Given the description of an element on the screen output the (x, y) to click on. 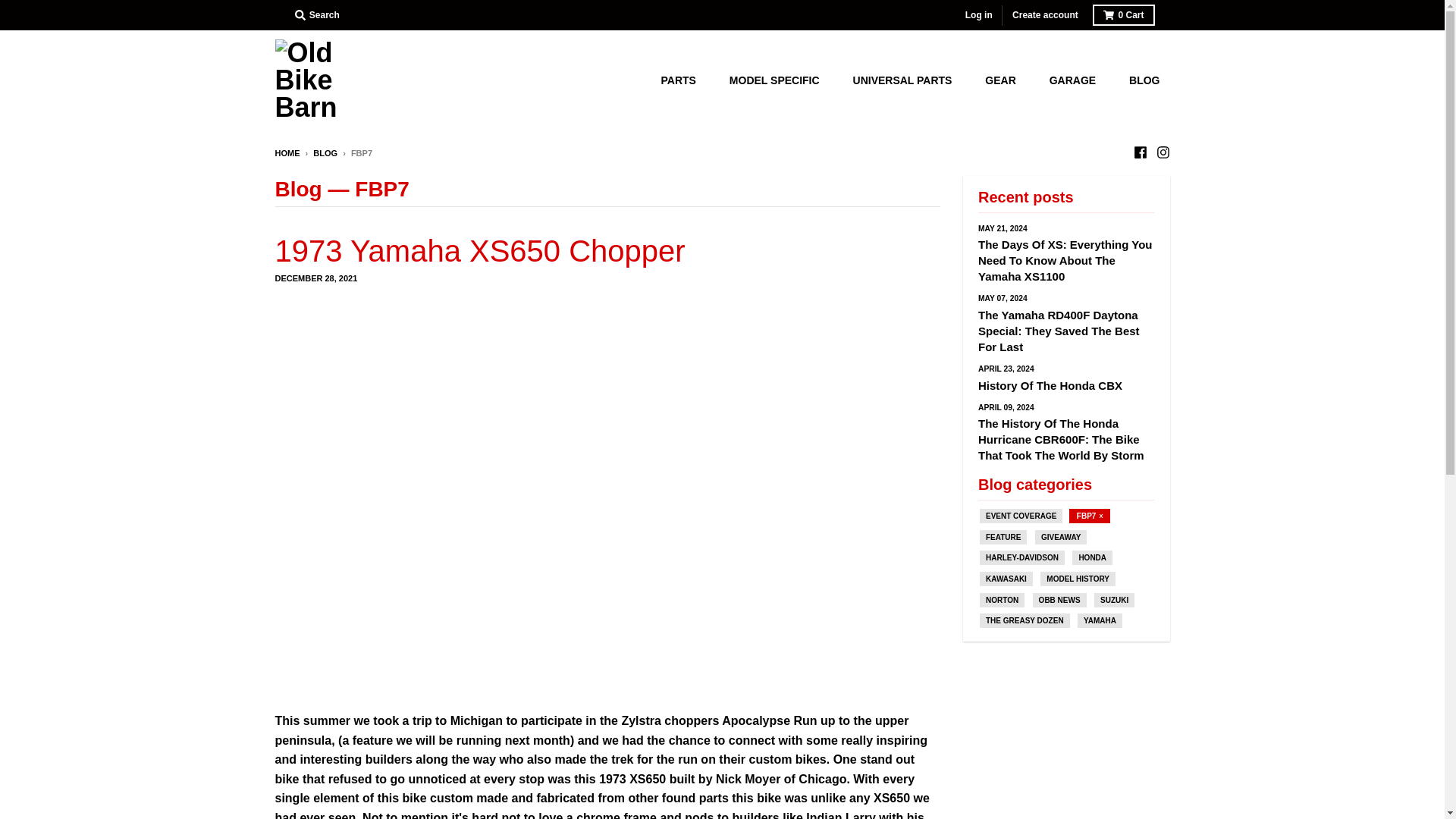
Search (316, 14)
Facebook - Old Bike Barn (1139, 151)
Instagram - Old Bike Barn (1162, 151)
Log in (978, 14)
Create account (1045, 14)
MODEL SPECIFIC (779, 80)
Back to the frontpage (287, 153)
PARTS (683, 80)
0 Cart (1123, 14)
